Given the description of an element on the screen output the (x, y) to click on. 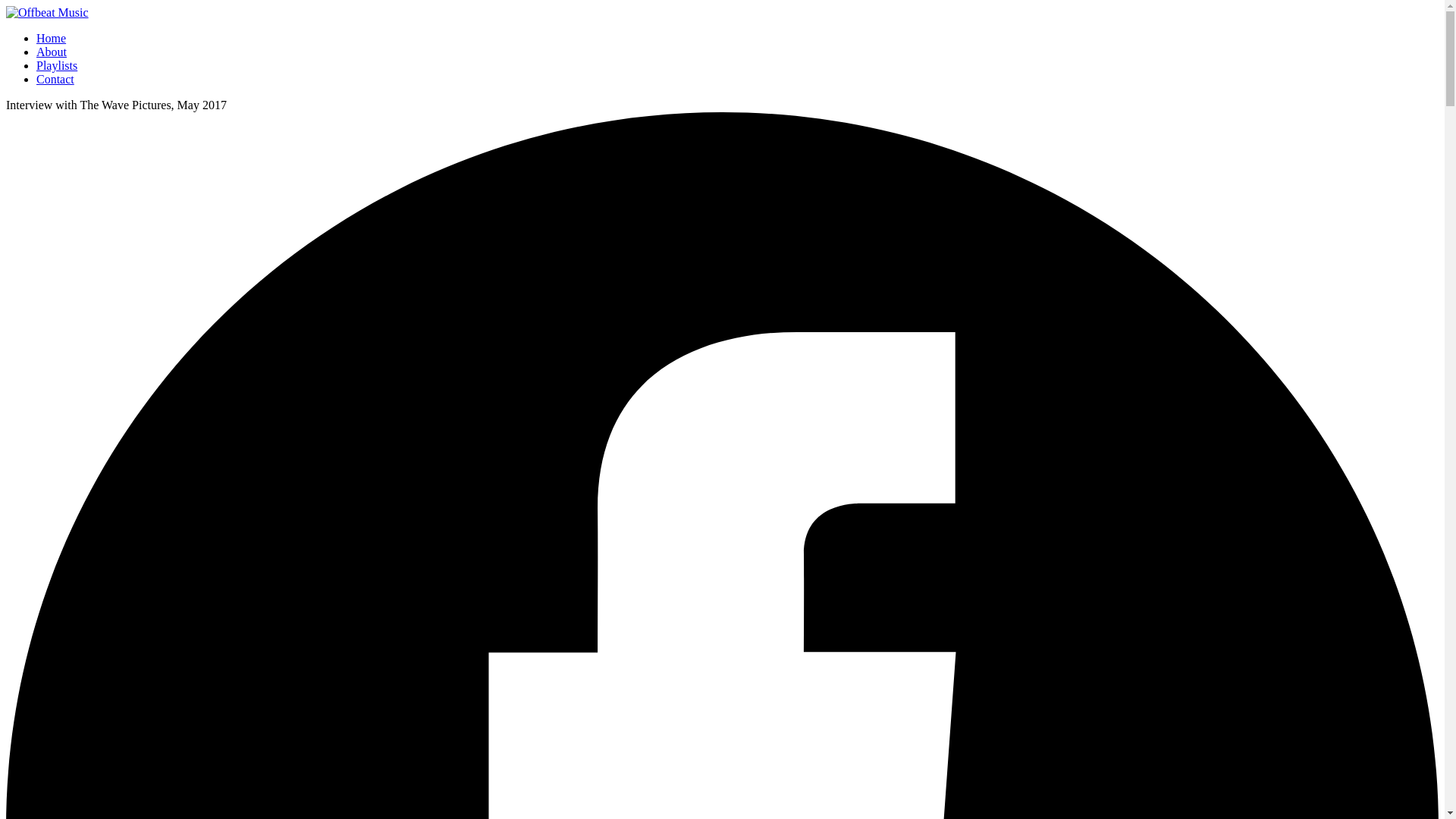
Home (50, 38)
About (51, 51)
Contact (55, 78)
Playlists (56, 65)
